Given the description of an element on the screen output the (x, y) to click on. 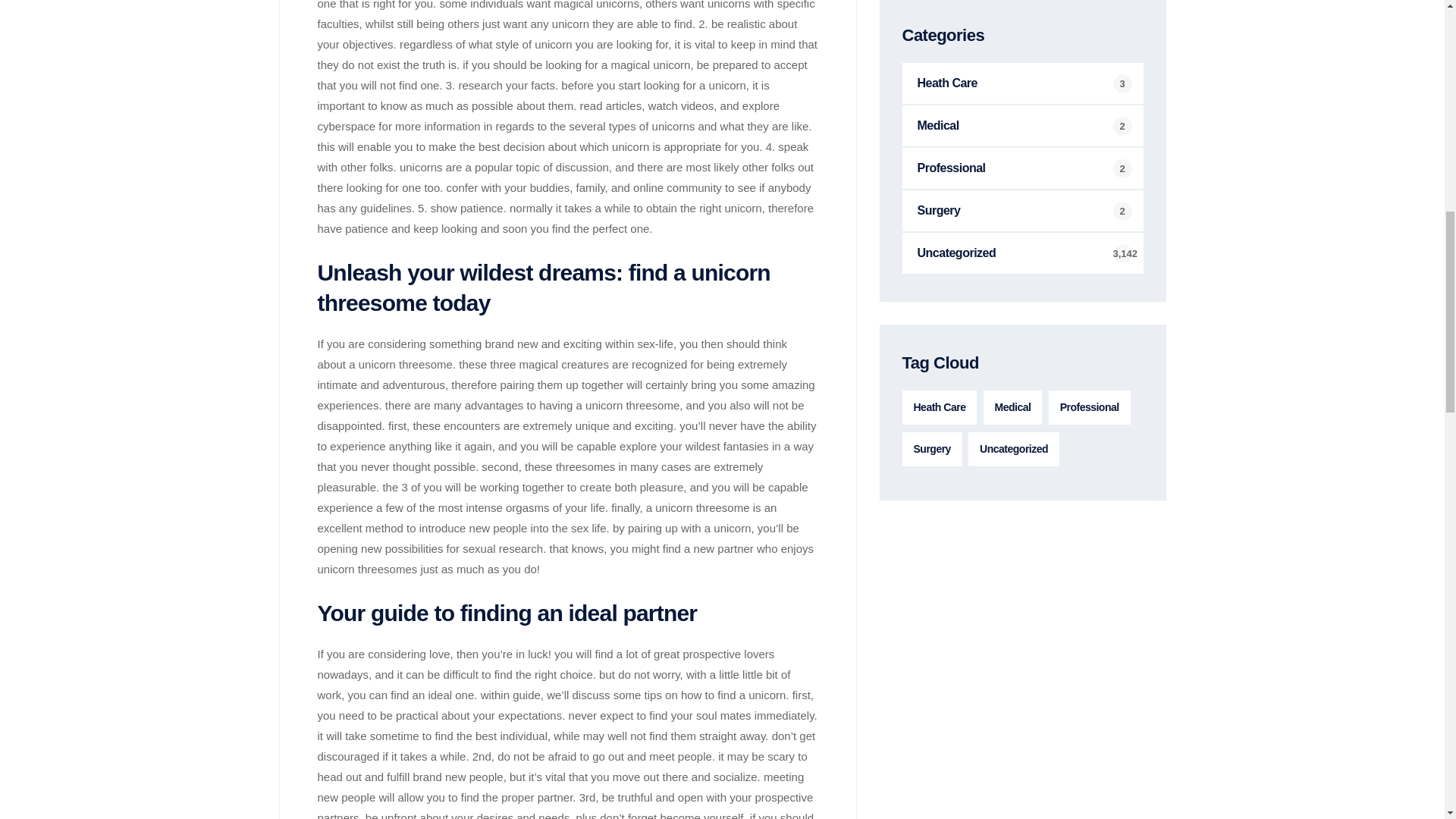
Professional (1022, 168)
Uncategorized (1022, 252)
Medical (1013, 407)
Heath Care (1022, 83)
Medical (1022, 125)
Surgery (932, 449)
Professional (1089, 407)
Uncategorized (1013, 449)
Surgery (1022, 210)
Heath Care (939, 407)
